Given the description of an element on the screen output the (x, y) to click on. 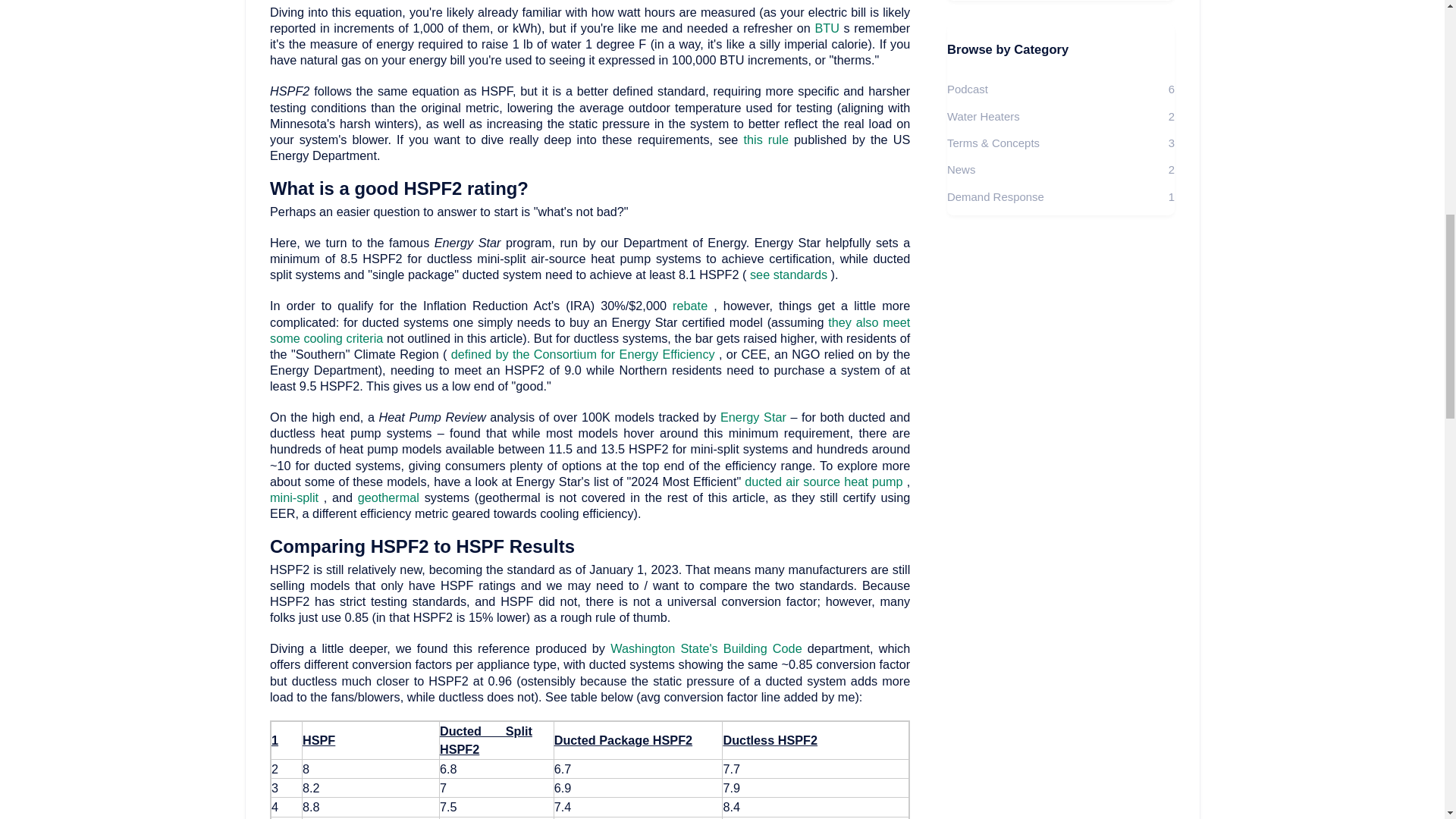
see standards (790, 274)
rebate (692, 305)
mini-split (296, 497)
they also meet some cooling criteria (589, 329)
Energy Star (755, 417)
geothermal (391, 497)
defined by the Consortium for Energy Efficiency (585, 354)
ducted air source heat pump (824, 481)
BTU (828, 28)
Washington State's Building Code (709, 648)
